Given the description of an element on the screen output the (x, y) to click on. 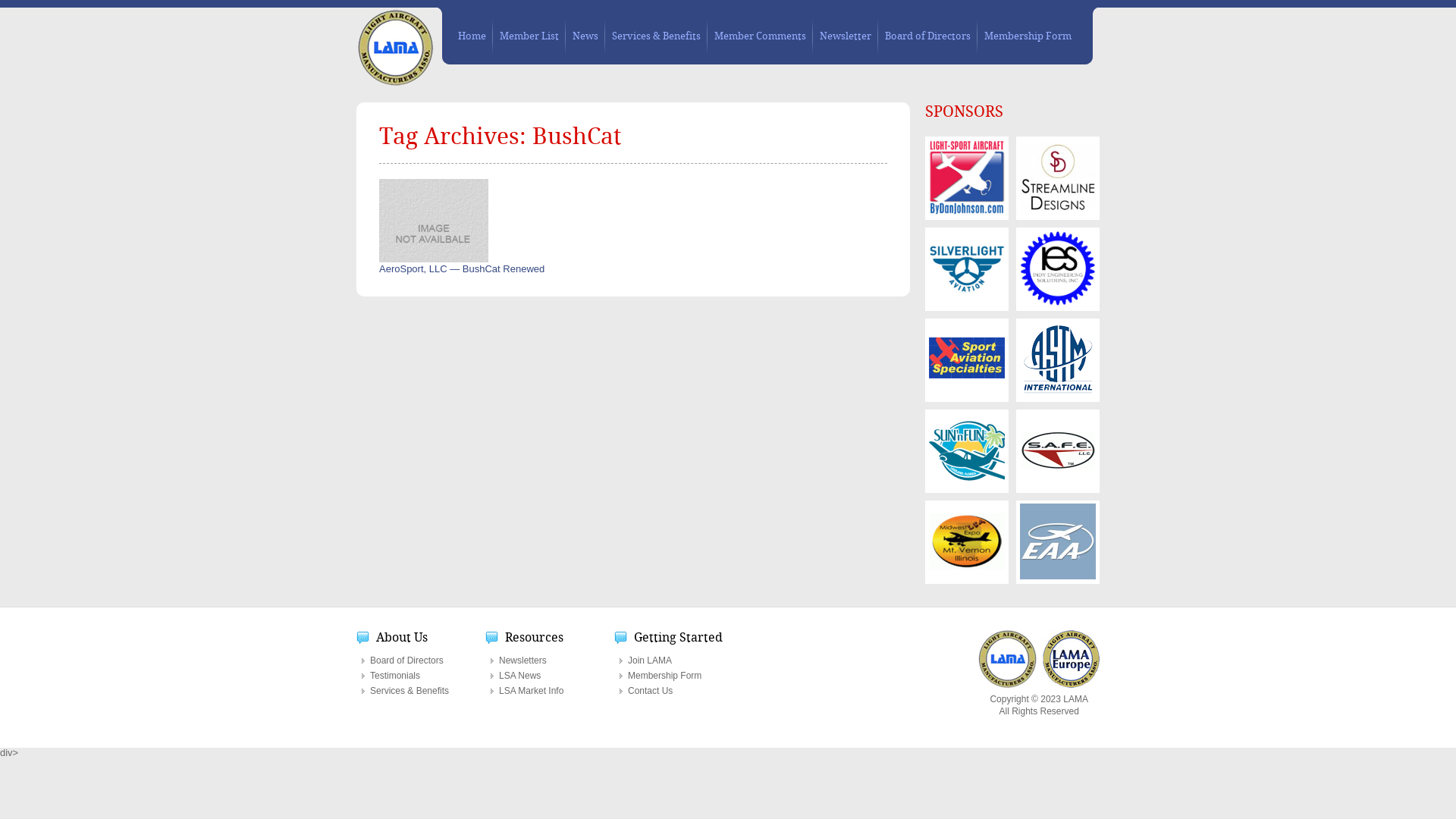
Services & Benefits Element type: text (656, 35)
Contact Us Element type: text (677, 690)
Member List Element type: text (528, 35)
Aero Sports Element type: hover (1057, 450)
Sun n Fun Element type: hover (966, 450)
Join LAMA Element type: text (677, 660)
Light Sport Aircraft Element type: hover (966, 177)
Board of Directors Element type: text (927, 35)
EAA Sport Element type: hover (1057, 541)
LSA News Element type: text (548, 675)
ASTM International Element type: hover (1057, 359)
Midwest LSA Expo Element type: hover (966, 541)
Testimonials Element type: text (420, 675)
Home Element type: text (471, 35)
Membership Form Element type: text (1027, 35)
Streamline Designs Element type: hover (1057, 176)
Board of Directors Element type: text (420, 660)
Silverlight Aviation Element type: hover (966, 268)
Indy Engineering Solutions, Inc. Element type: hover (1057, 268)
News Element type: text (585, 35)
Membership Form Element type: text (677, 675)
Newsletters Element type: text (548, 660)
Services & Benefits Element type: text (420, 690)
Sport Aviation Specialties Element type: hover (966, 359)
Member Comments Element type: text (759, 35)
Newsletter Element type: text (845, 35)
LSA Market Info Element type: text (548, 690)
